Given the description of an element on the screen output the (x, y) to click on. 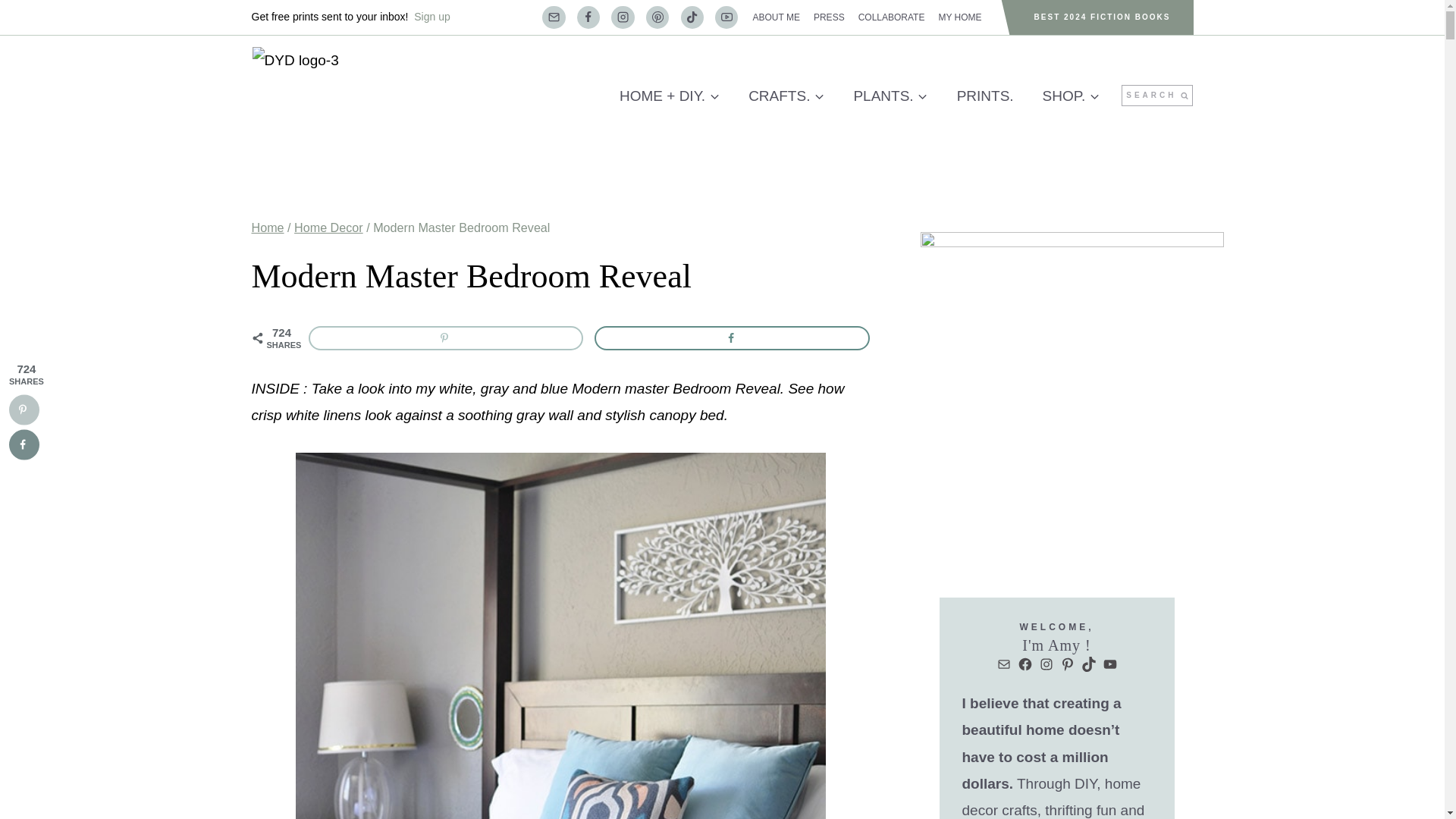
CRAFTS. (785, 95)
ABOUT ME (775, 17)
All Things DIY (669, 95)
Save to Pinterest (445, 337)
SHOP. (1071, 95)
Share on Facebook (731, 337)
BEST 2024 FICTION BOOKS (1102, 17)
PRESS (828, 17)
Sign up (431, 16)
COLLABORATE (891, 17)
